Given the description of an element on the screen output the (x, y) to click on. 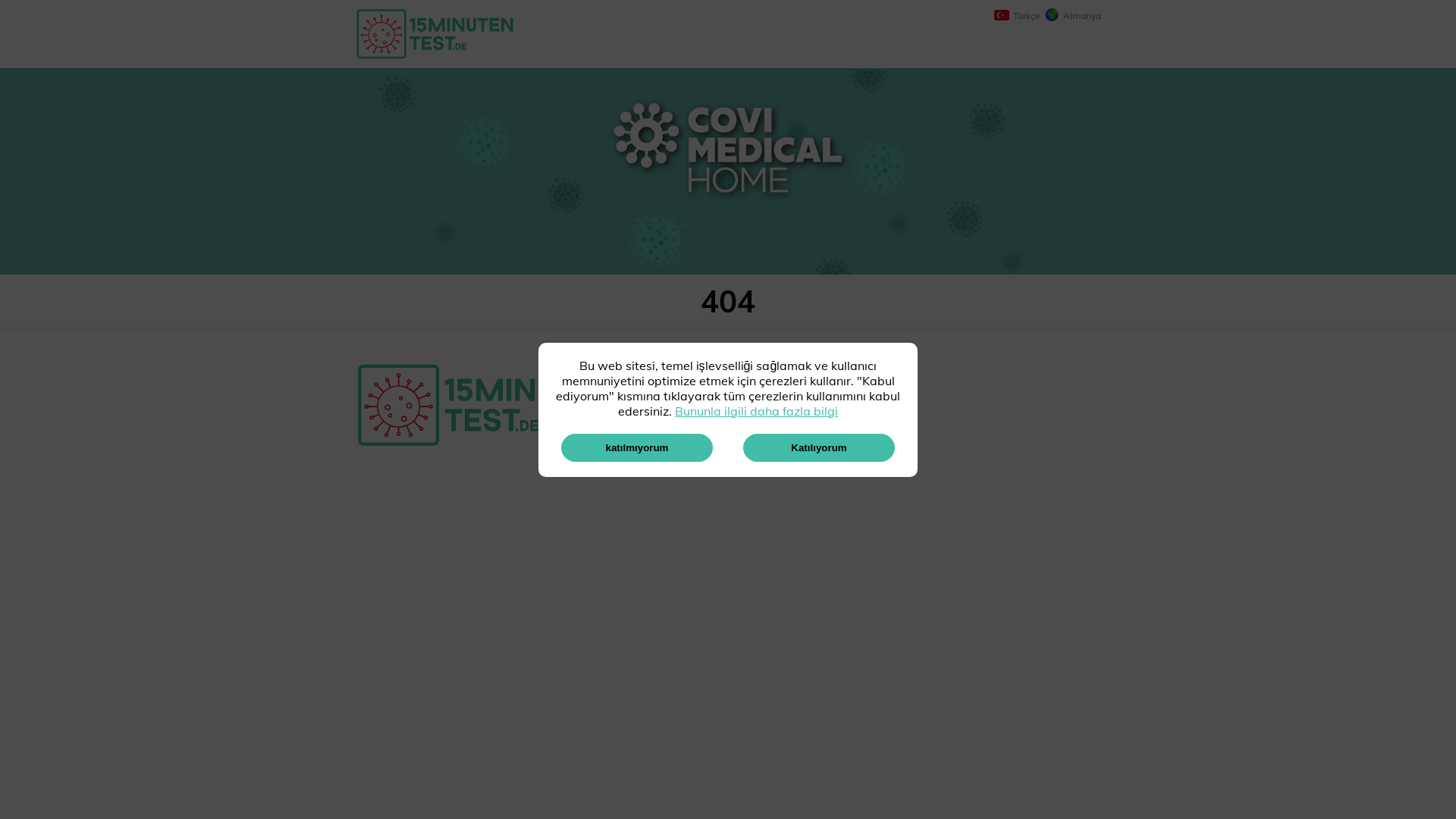
Gizlilik Element type: text (796, 426)
Merkezler Element type: text (805, 397)
ev Element type: text (694, 397)
Bununla ilgili daha fazla bilgi Element type: text (755, 410)
